Given the description of an element on the screen output the (x, y) to click on. 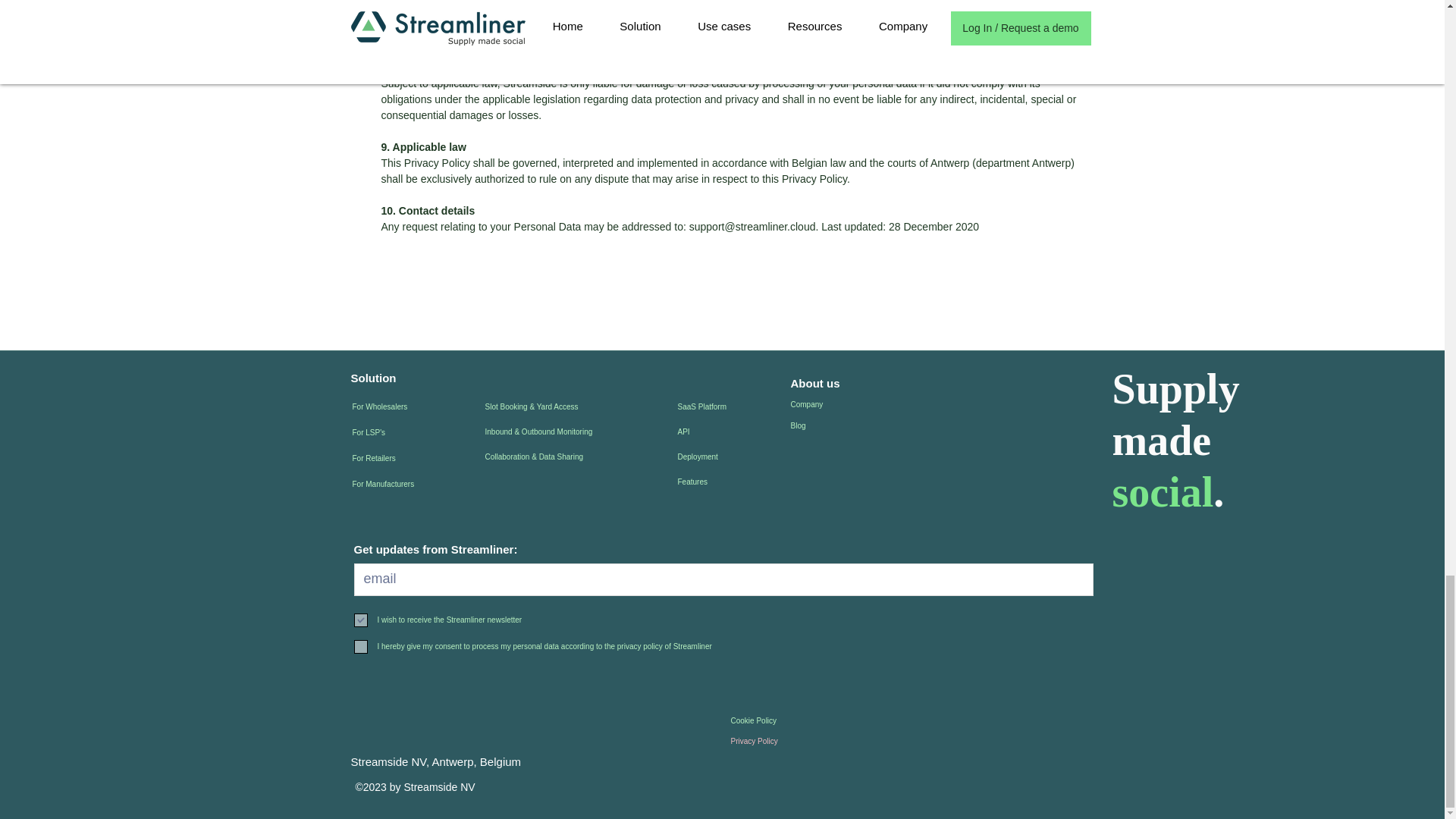
Deployment (731, 456)
For Wholesalers (431, 406)
For LSP's (431, 432)
API (731, 431)
For Manufacturers (431, 484)
SaaS Platform (731, 406)
For Retailers (431, 458)
